Given the description of an element on the screen output the (x, y) to click on. 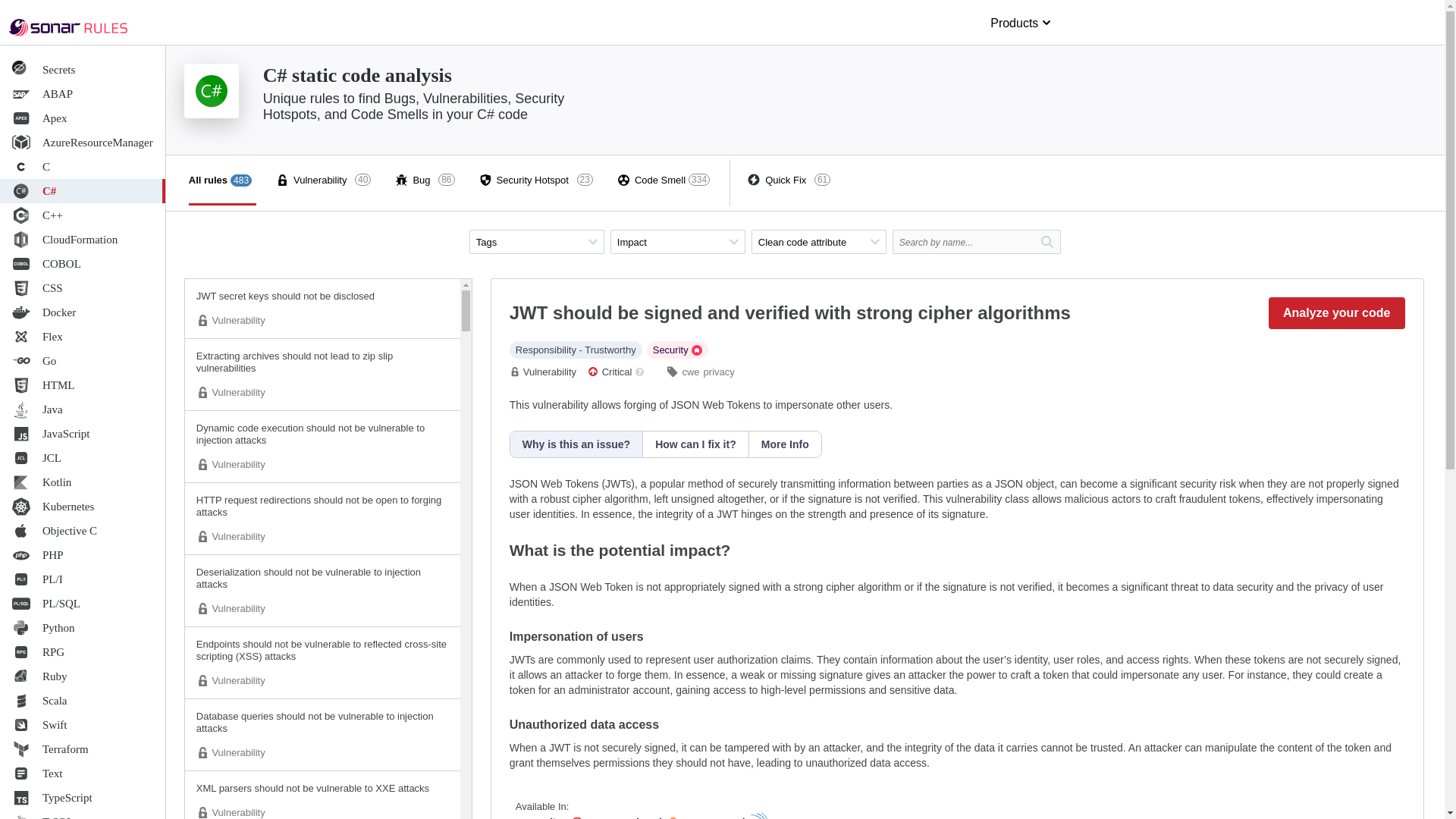
Apex (82, 118)
T-SQL (82, 814)
Kotlin (82, 482)
Java (82, 409)
Swift (82, 724)
Flex (82, 336)
AzureResourceManager (82, 142)
Objective C (82, 530)
C (82, 166)
RPG (82, 651)
